Given the description of an element on the screen output the (x, y) to click on. 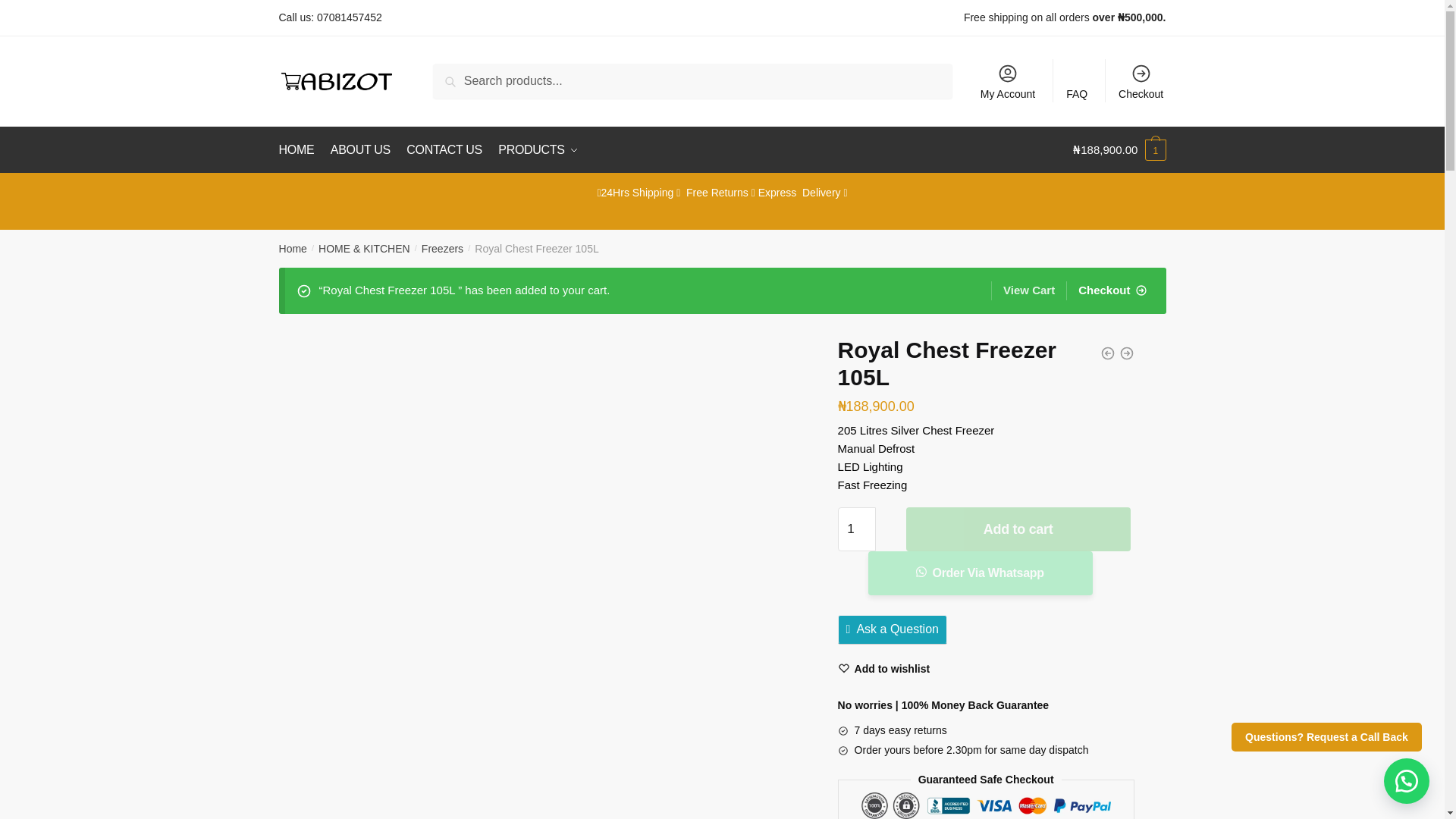
PRODUCTS (537, 149)
View your shopping cart (1119, 149)
Wishlist (884, 668)
CONTACT US (443, 149)
Checkout (1141, 80)
Search (470, 80)
ABOUT US (360, 149)
FAQ (1077, 80)
My Account (1008, 80)
HOME (299, 149)
